Given the description of an element on the screen output the (x, y) to click on. 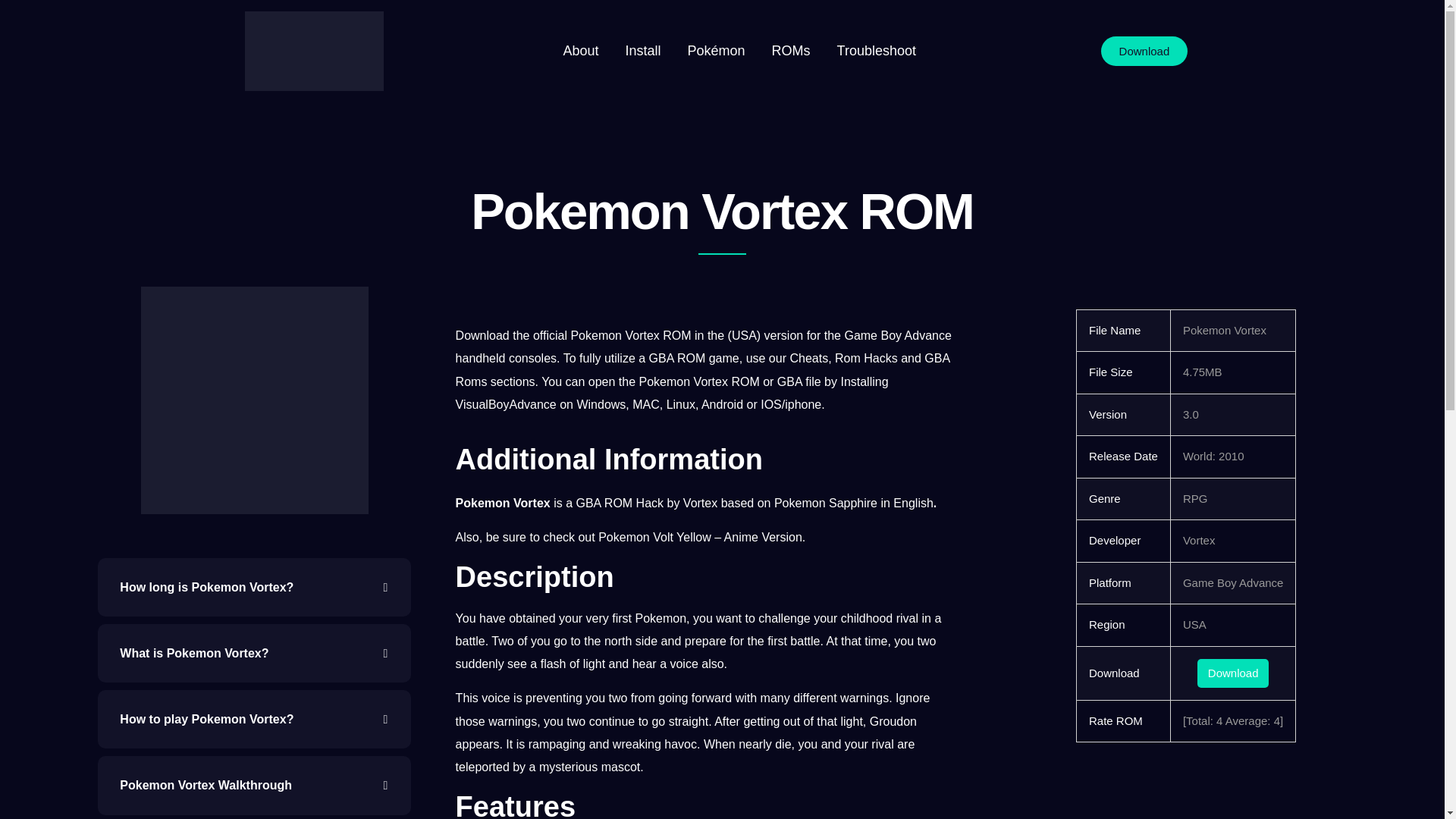
Pokemon Vortex Walkthrough (253, 784)
ROMs (790, 51)
How long is Pokemon Vortex? (253, 586)
What is Pokemon Vortex? (253, 653)
How to play Pokemon Vortex? (253, 719)
Troubleshoot (876, 51)
Download (1144, 51)
